Given the description of an element on the screen output the (x, y) to click on. 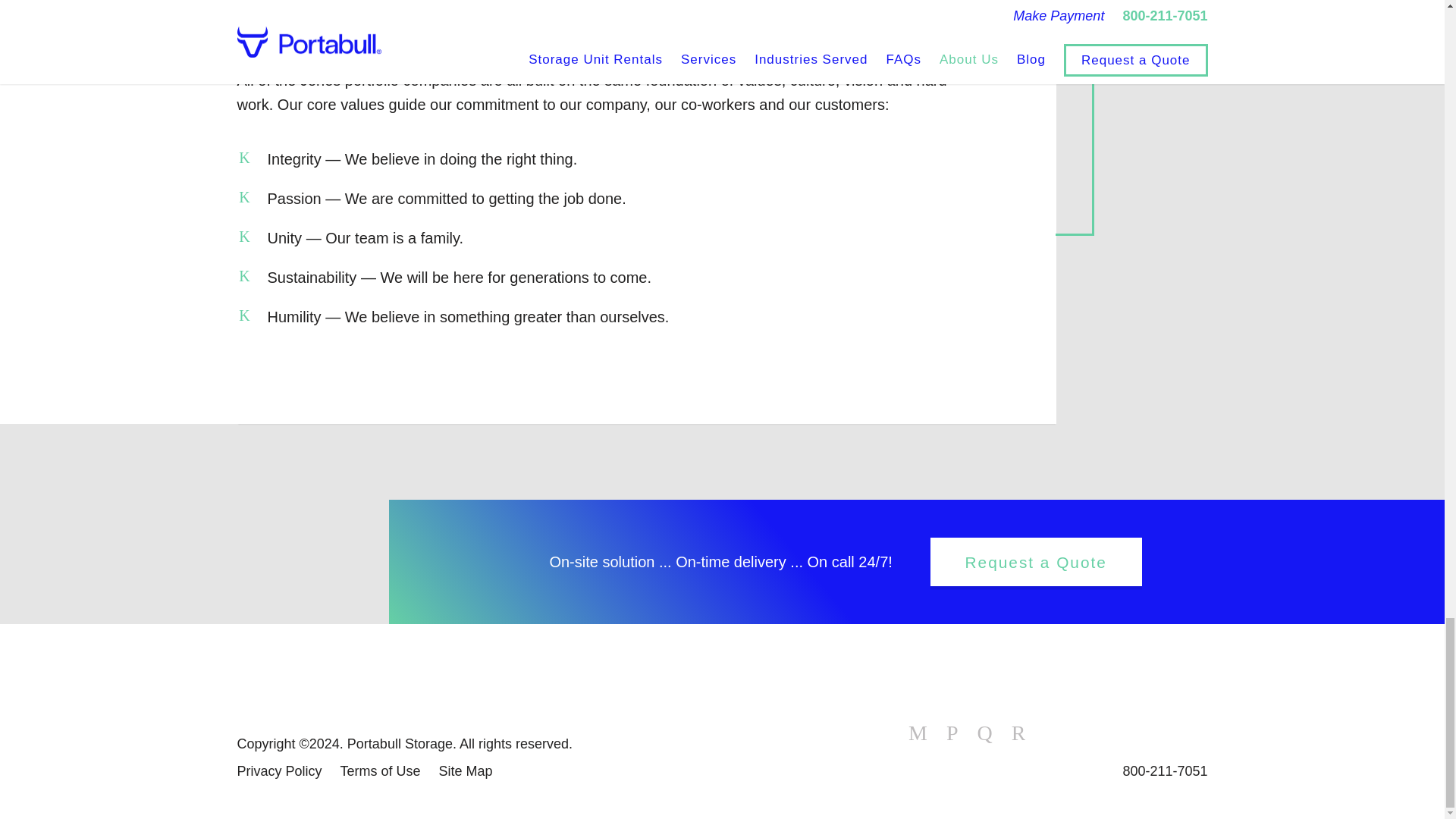
Facebook (917, 732)
Portabull Storage (1134, 724)
A Jones Company (330, 679)
